Given the description of an element on the screen output the (x, y) to click on. 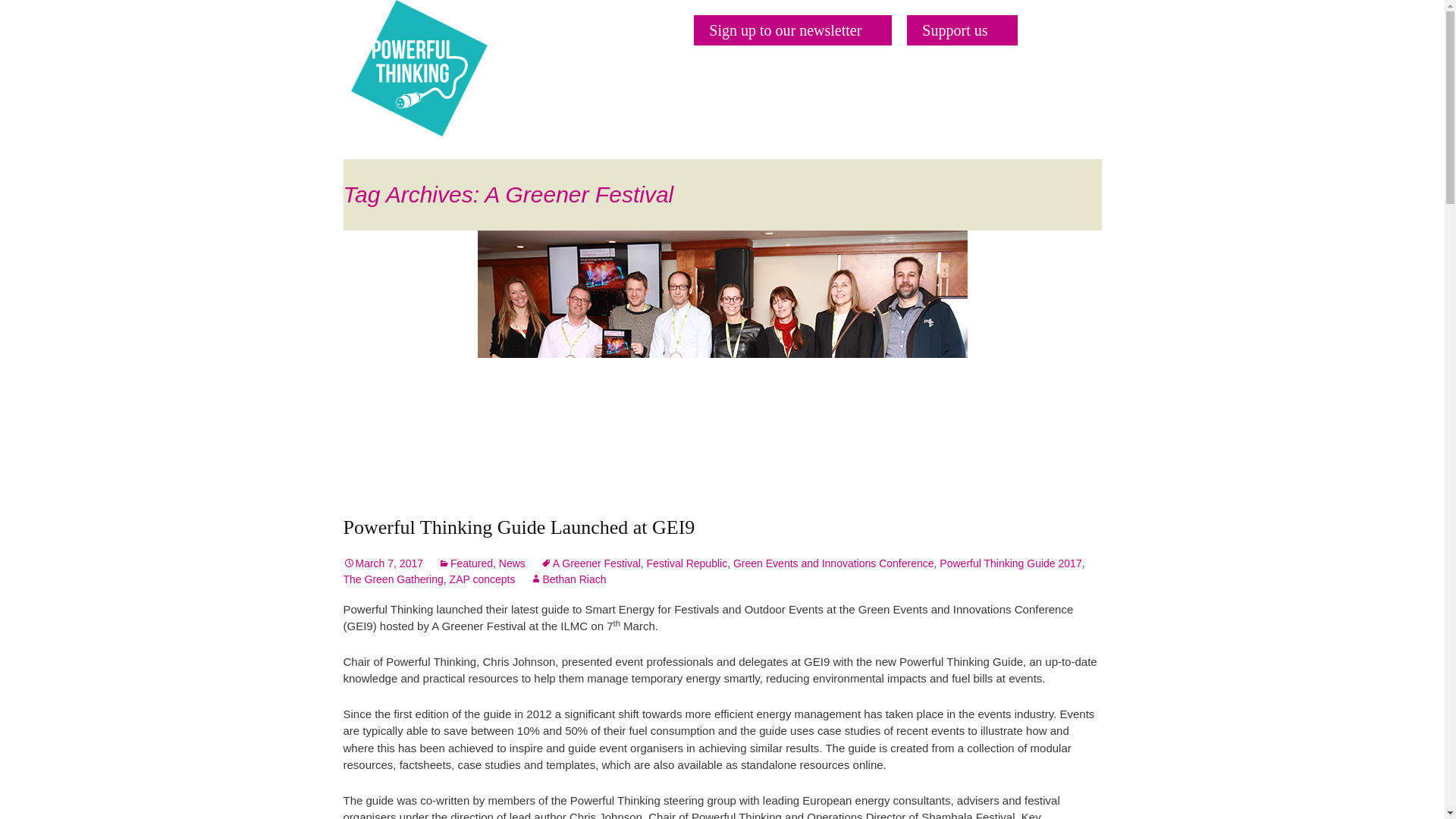
News (512, 563)
Bethan Riach (567, 579)
A Greener Festival (590, 563)
Sign up to our newsletter (792, 30)
News (1027, 100)
ZAP concepts (482, 579)
Permalink to Powerful Thinking Guide Launched at GEI9 (382, 563)
About us (684, 100)
Support us (962, 30)
